Given the description of an element on the screen output the (x, y) to click on. 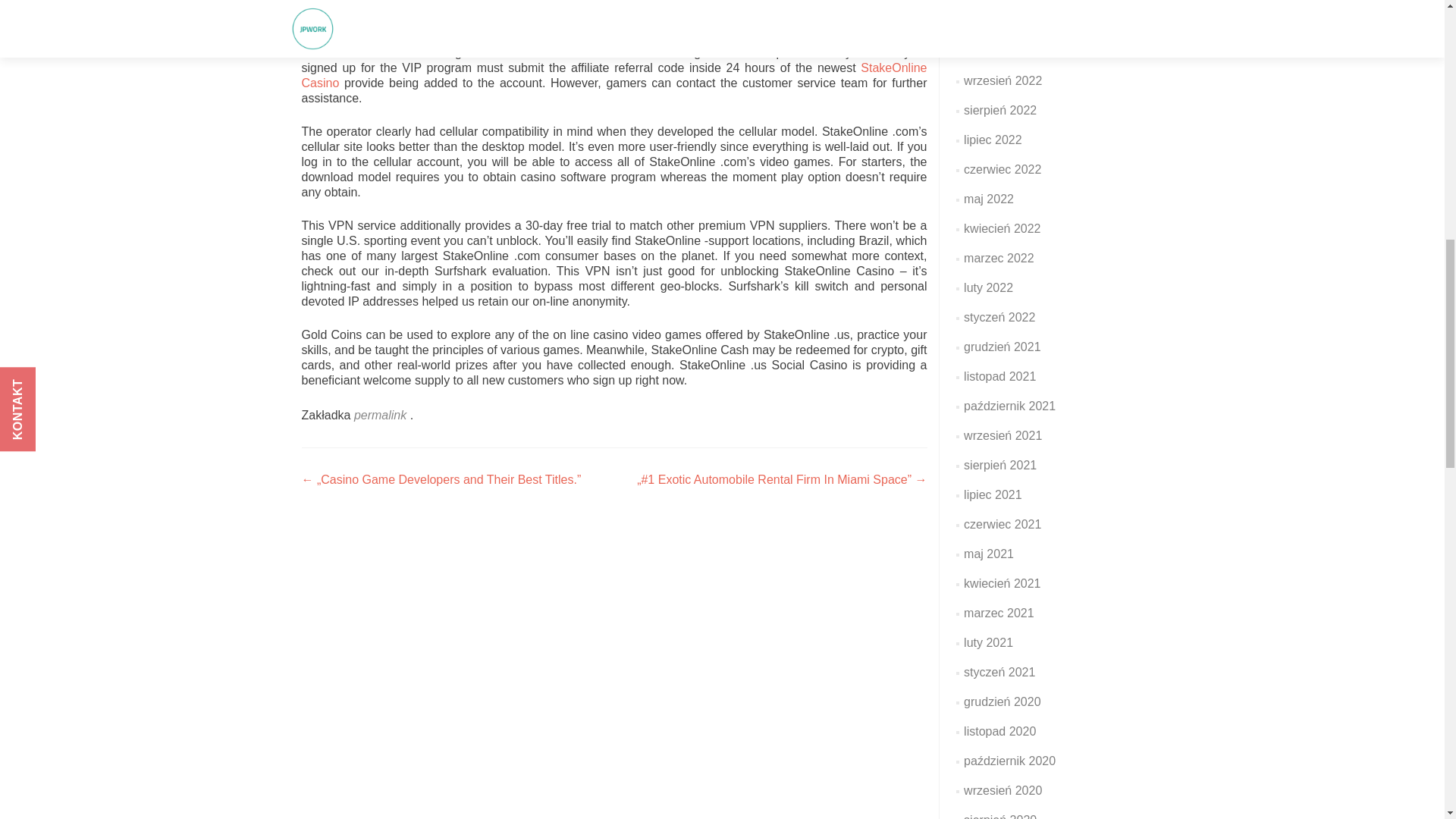
permalink (381, 414)
czerwiec 2022 (1002, 169)
StakeOnline Casino (614, 75)
listopad 2022 (999, 21)
maj 2022 (988, 198)
lipiec 2022 (992, 139)
